Given the description of an element on the screen output the (x, y) to click on. 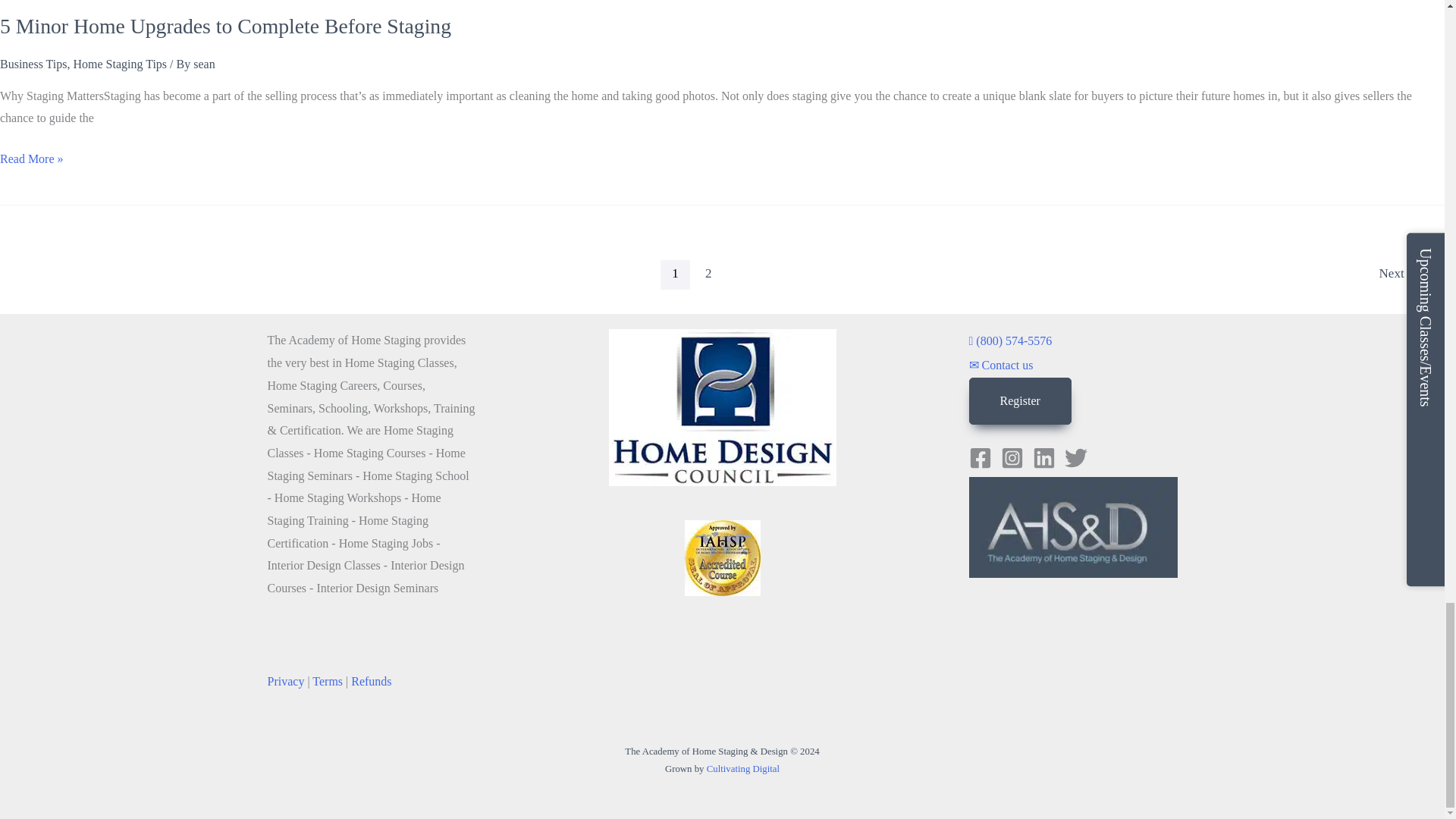
View all posts by sean (203, 63)
